Given the description of an element on the screen output the (x, y) to click on. 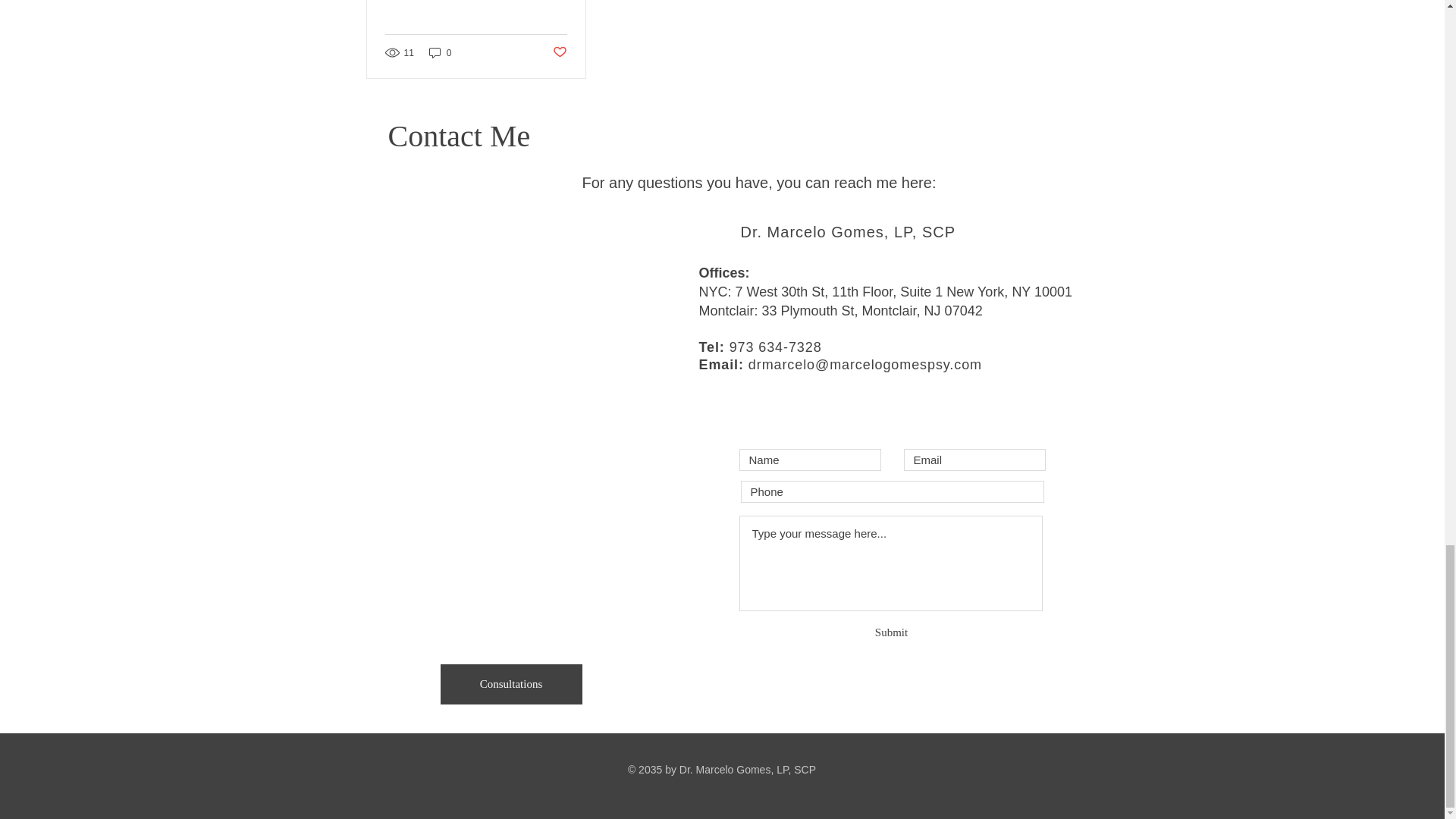
Post not marked as liked (558, 52)
Consultations (509, 684)
Submit (890, 632)
0 (440, 52)
